Given the description of an element on the screen output the (x, y) to click on. 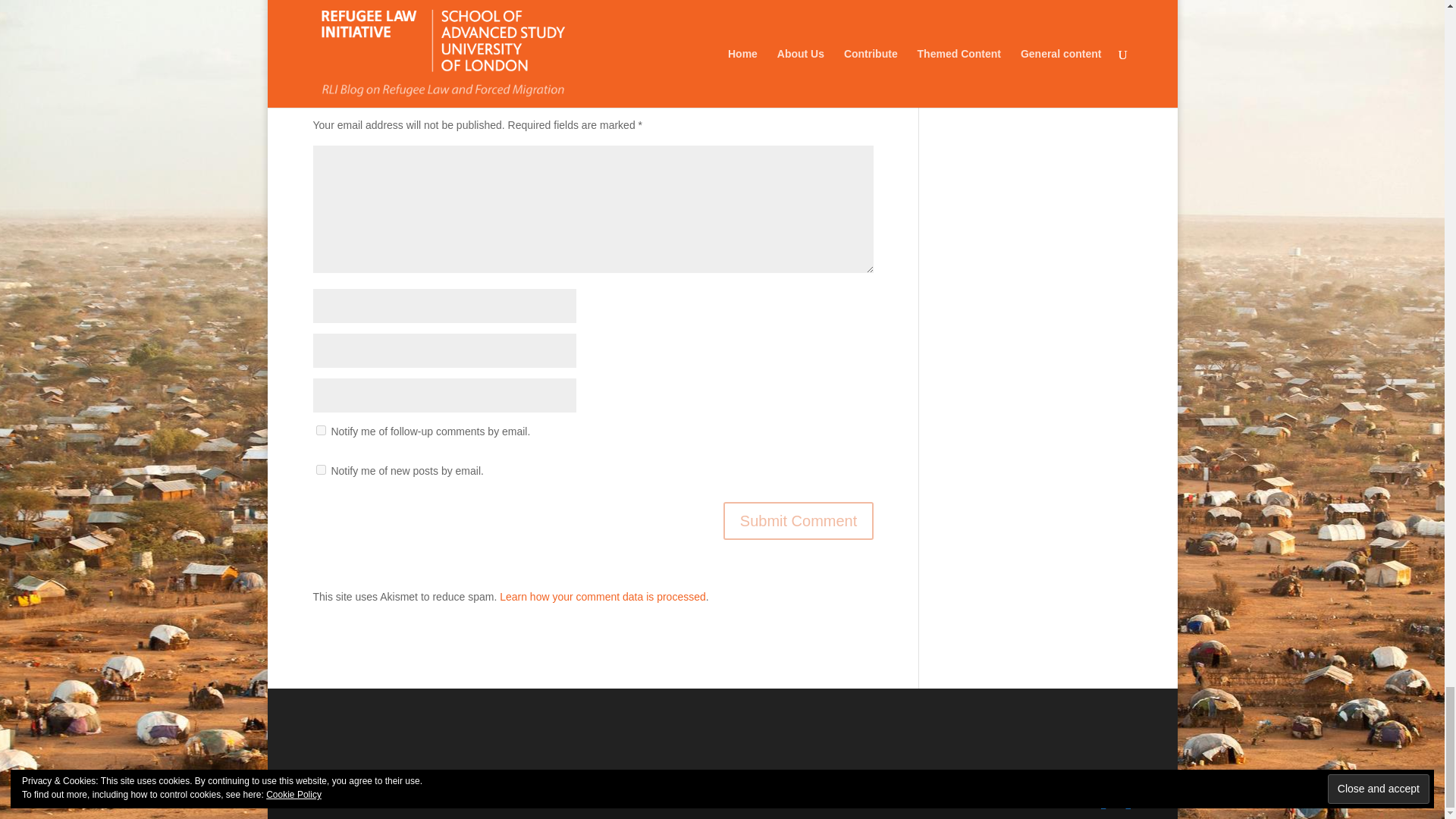
subscribe (319, 429)
subscribe (319, 470)
Submit Comment (799, 520)
